Given the description of an element on the screen output the (x, y) to click on. 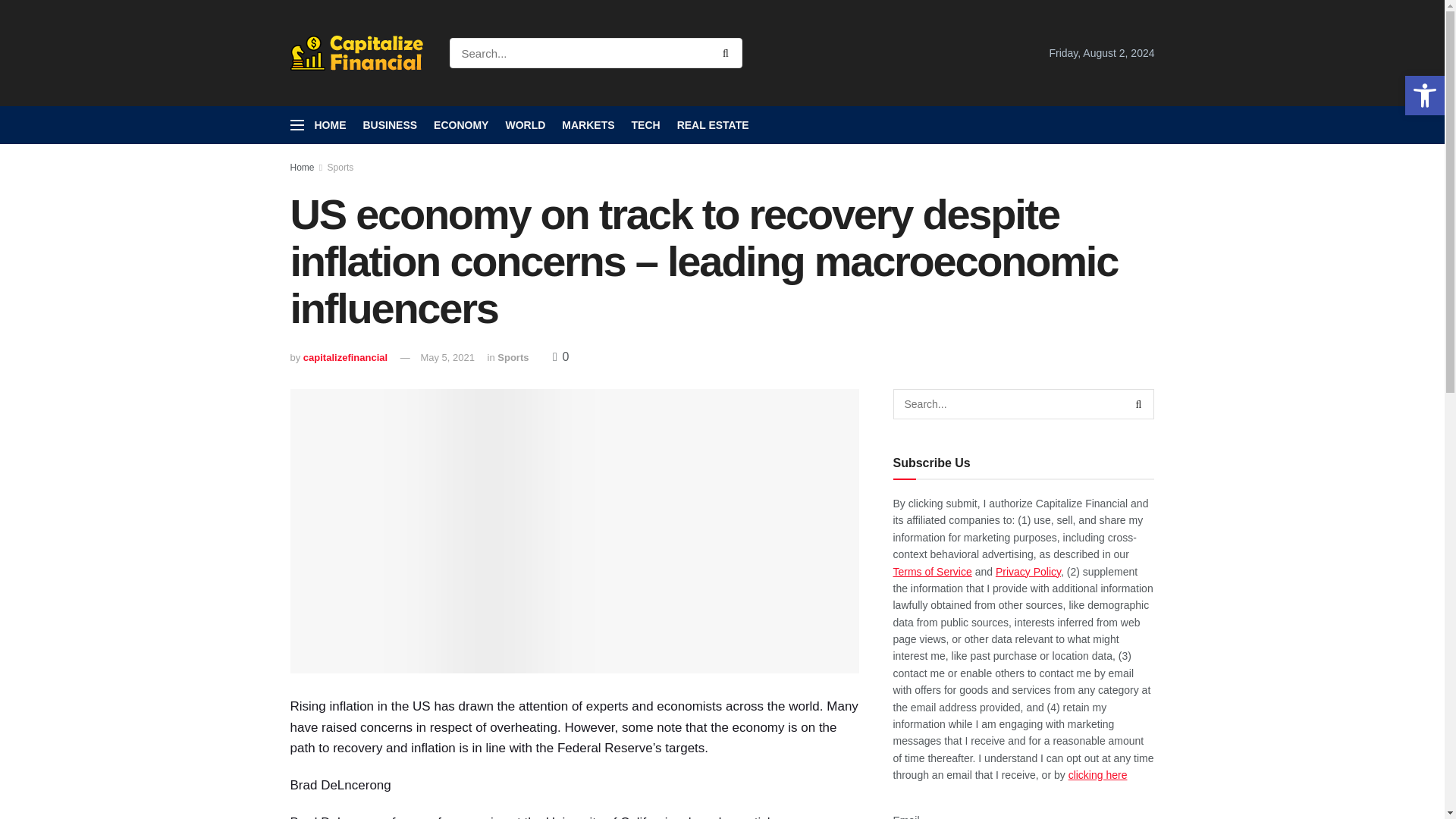
MARKETS (588, 125)
REAL ESTATE (713, 125)
Accessibility Tools (1424, 95)
BUSINESS (389, 125)
ECONOMY (460, 125)
capitalizefinancial (344, 357)
Home (301, 167)
Sports (340, 167)
May 5, 2021 (447, 357)
WORLD (524, 125)
